Given the description of an element on the screen output the (x, y) to click on. 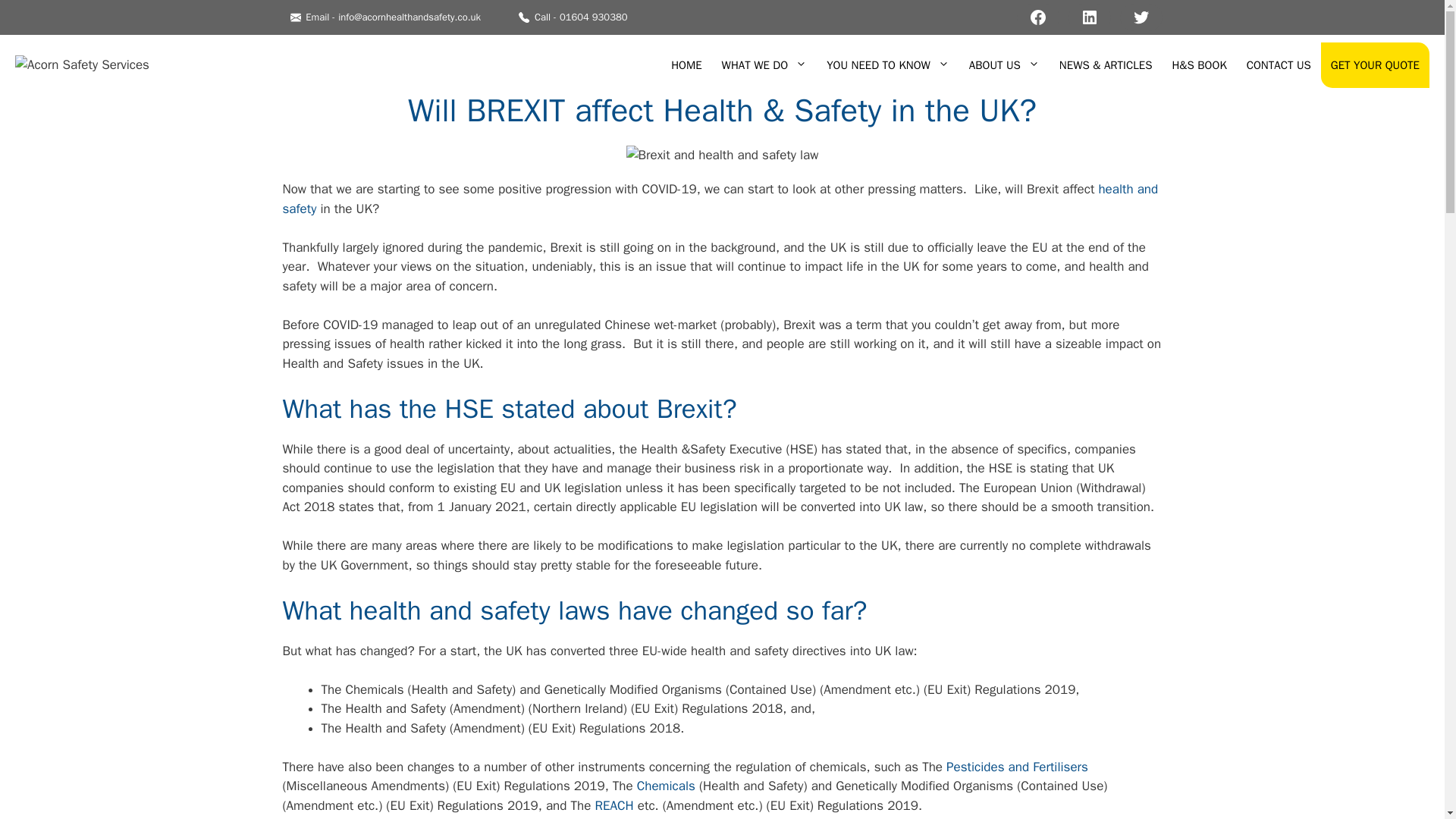
Acorn Safety Services Facebook Page (1037, 17)
Call - 01604 930380 (572, 17)
HOME (686, 64)
Acorn Safety Services Linkedin Page (1088, 17)
YOU NEED TO KNOW (887, 64)
WHAT WE DO (763, 64)
Acorn Safety Services Twitter Page (1140, 17)
